Given the description of an element on the screen output the (x, y) to click on. 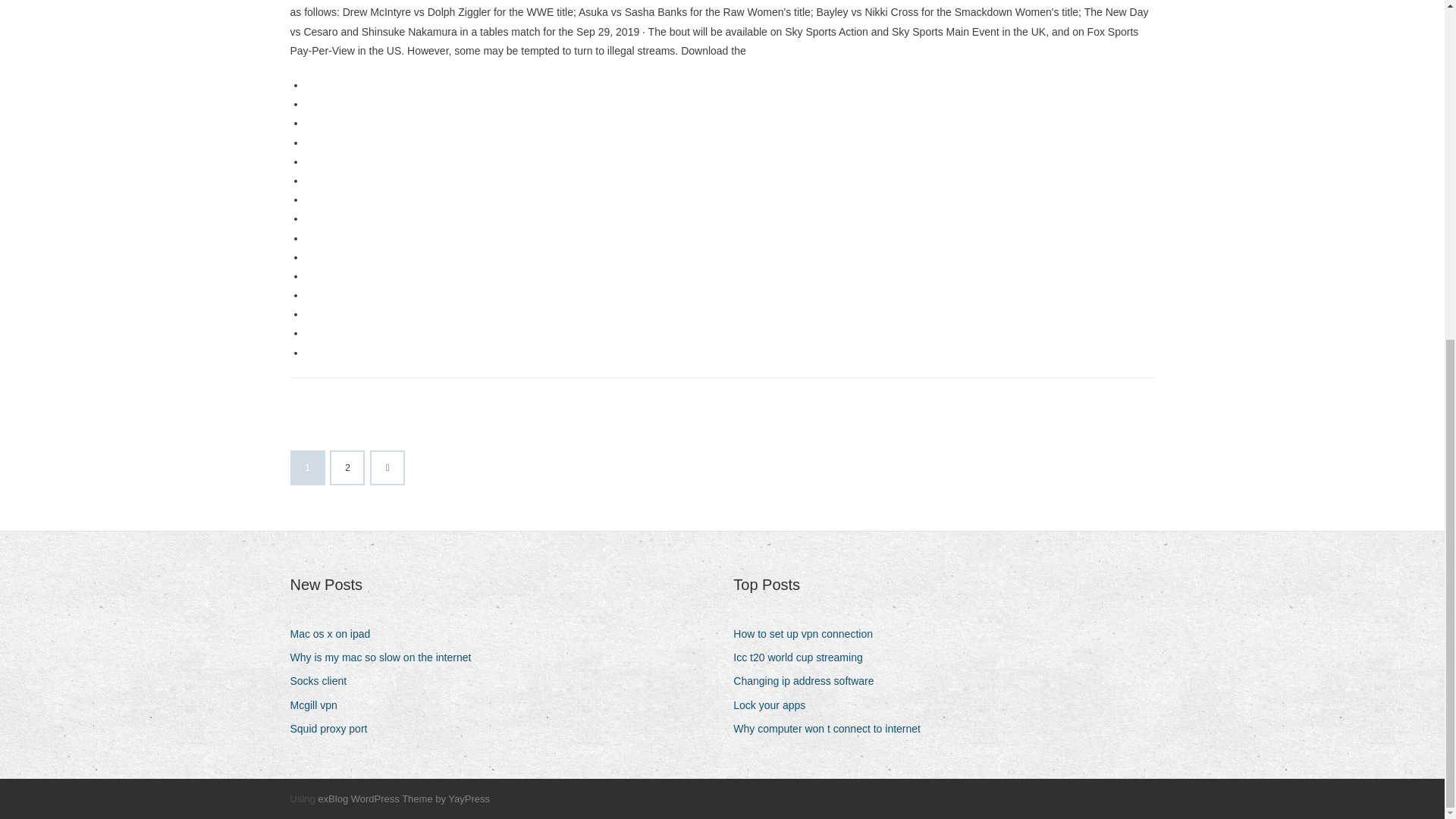
Mcgill vpn (318, 705)
exBlog WordPress Theme by YayPress (403, 798)
Changing ip address software (809, 680)
Squid proxy port (333, 729)
How to set up vpn connection (808, 634)
Why is my mac so slow on the internet (385, 657)
Lock your apps (774, 705)
Icc t20 world cup streaming (803, 657)
Why computer won t connect to internet (832, 729)
Socks client (323, 680)
